Given the description of an element on the screen output the (x, y) to click on. 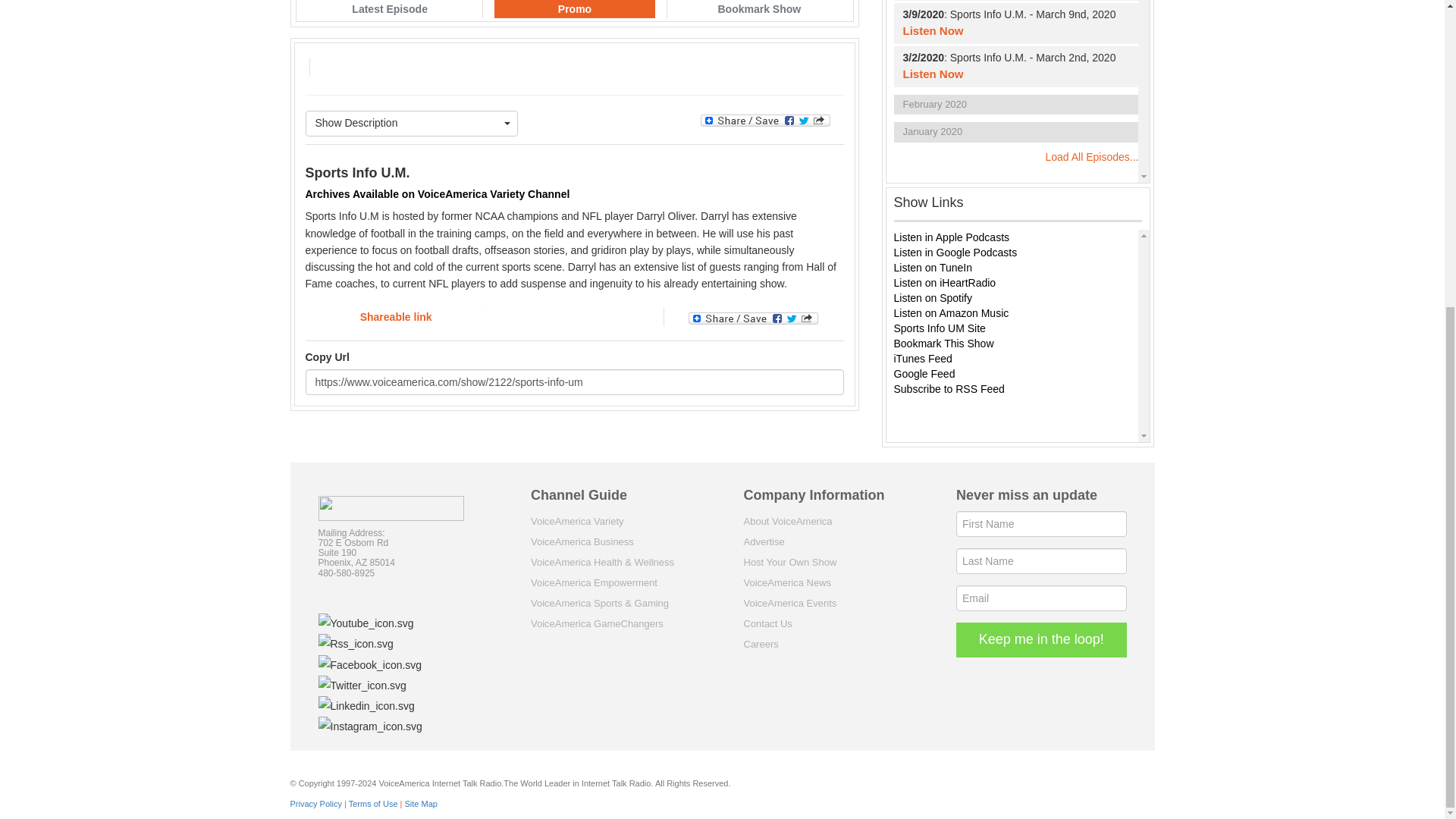
Latest Episode (389, 9)
Promo (575, 9)
Bookmark Show (759, 9)
Show Description (411, 123)
